Given the description of an element on the screen output the (x, y) to click on. 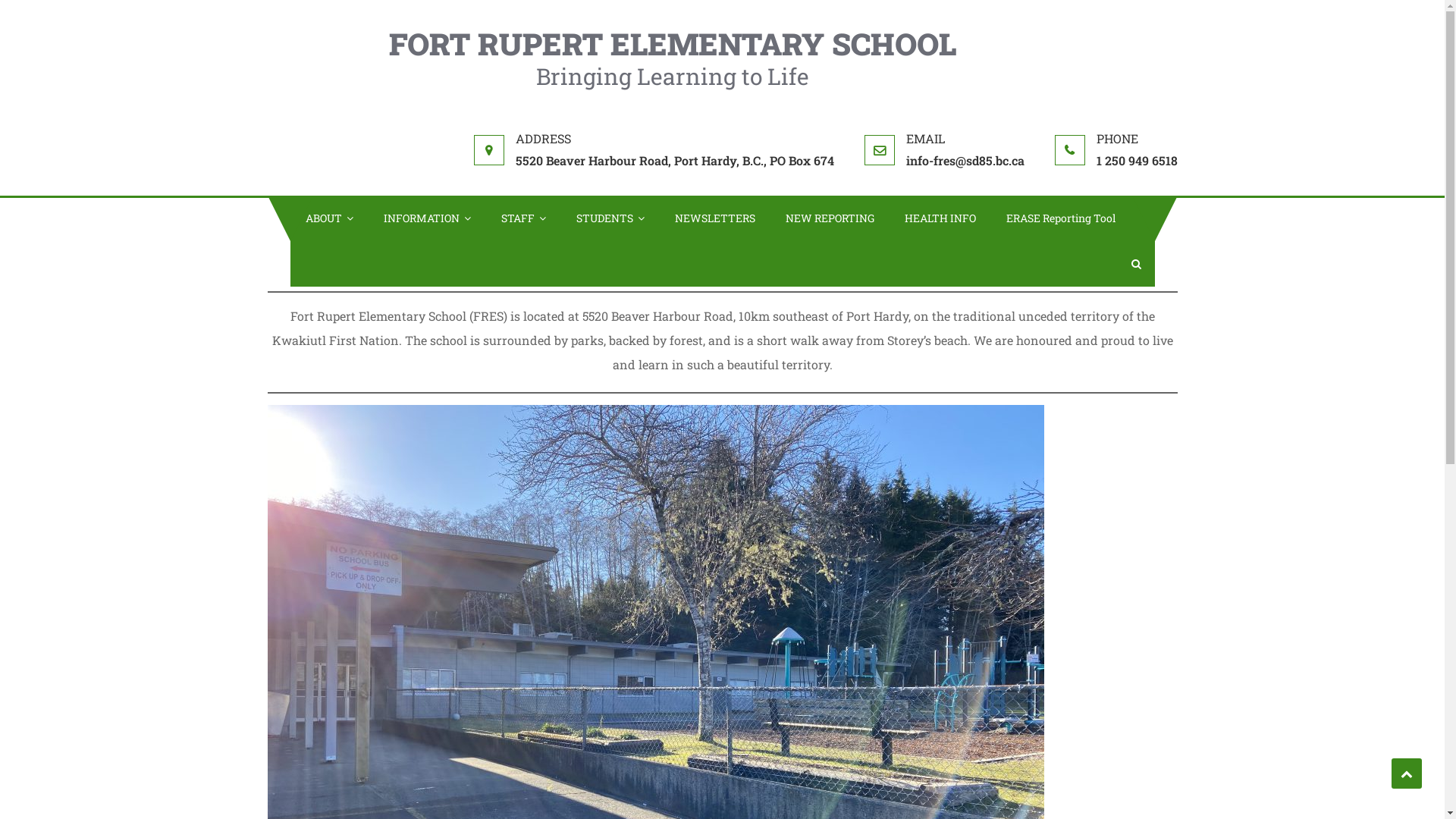
INFORMATION Element type: text (427, 218)
HEALTH INFO Element type: text (939, 218)
ERASE Reporting Tool Element type: text (1059, 218)
NEWSLETTERS Element type: text (714, 218)
STUDENTS Element type: text (610, 218)
STAFF Element type: text (522, 218)
ABOUT Element type: text (328, 218)
NEW REPORTING Element type: text (829, 218)
